Given the description of an element on the screen output the (x, y) to click on. 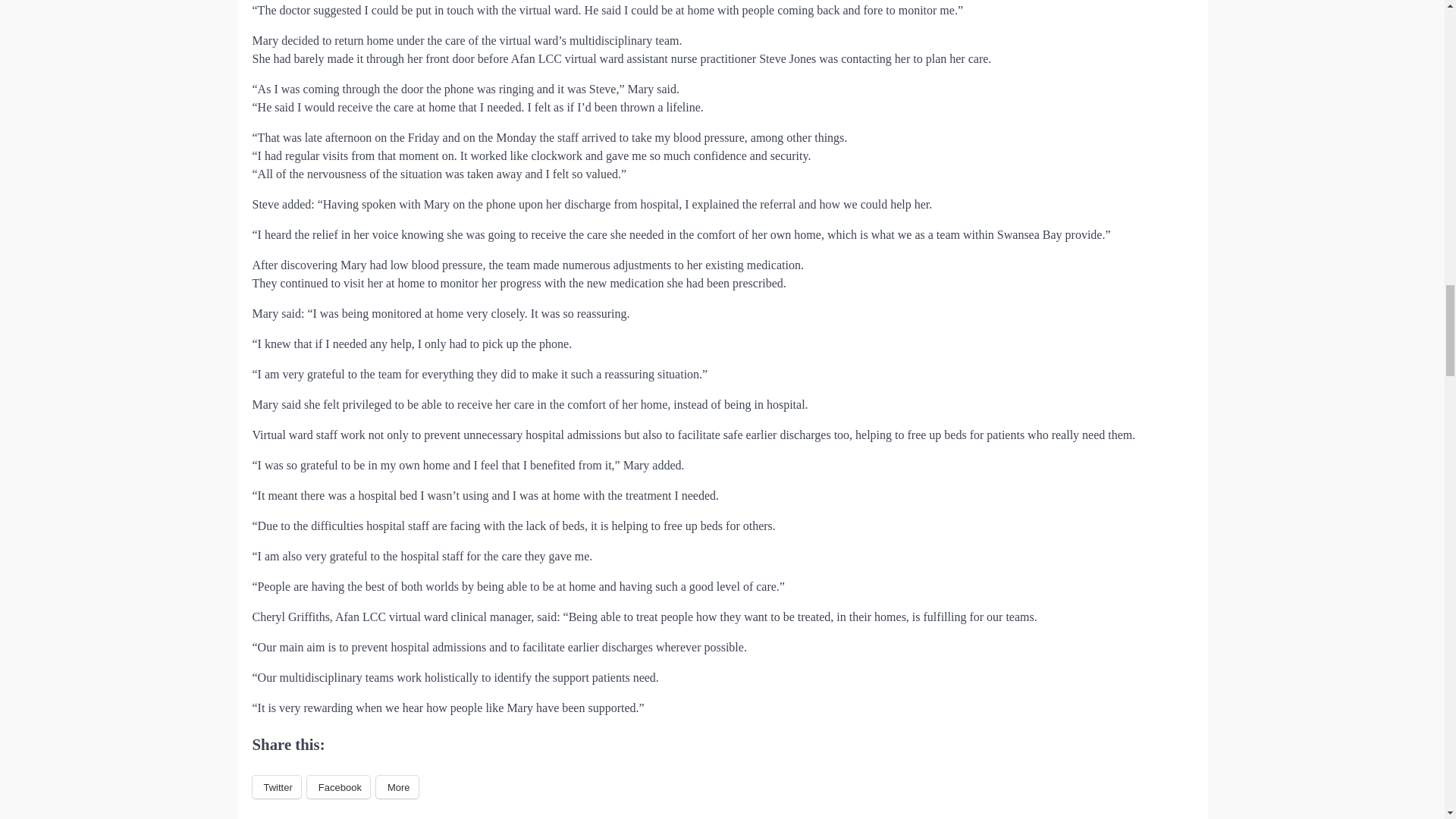
Click to share on Facebook (338, 786)
Click to share on Twitter (275, 786)
More (397, 786)
Twitter (275, 786)
Facebook (338, 786)
